Given the description of an element on the screen output the (x, y) to click on. 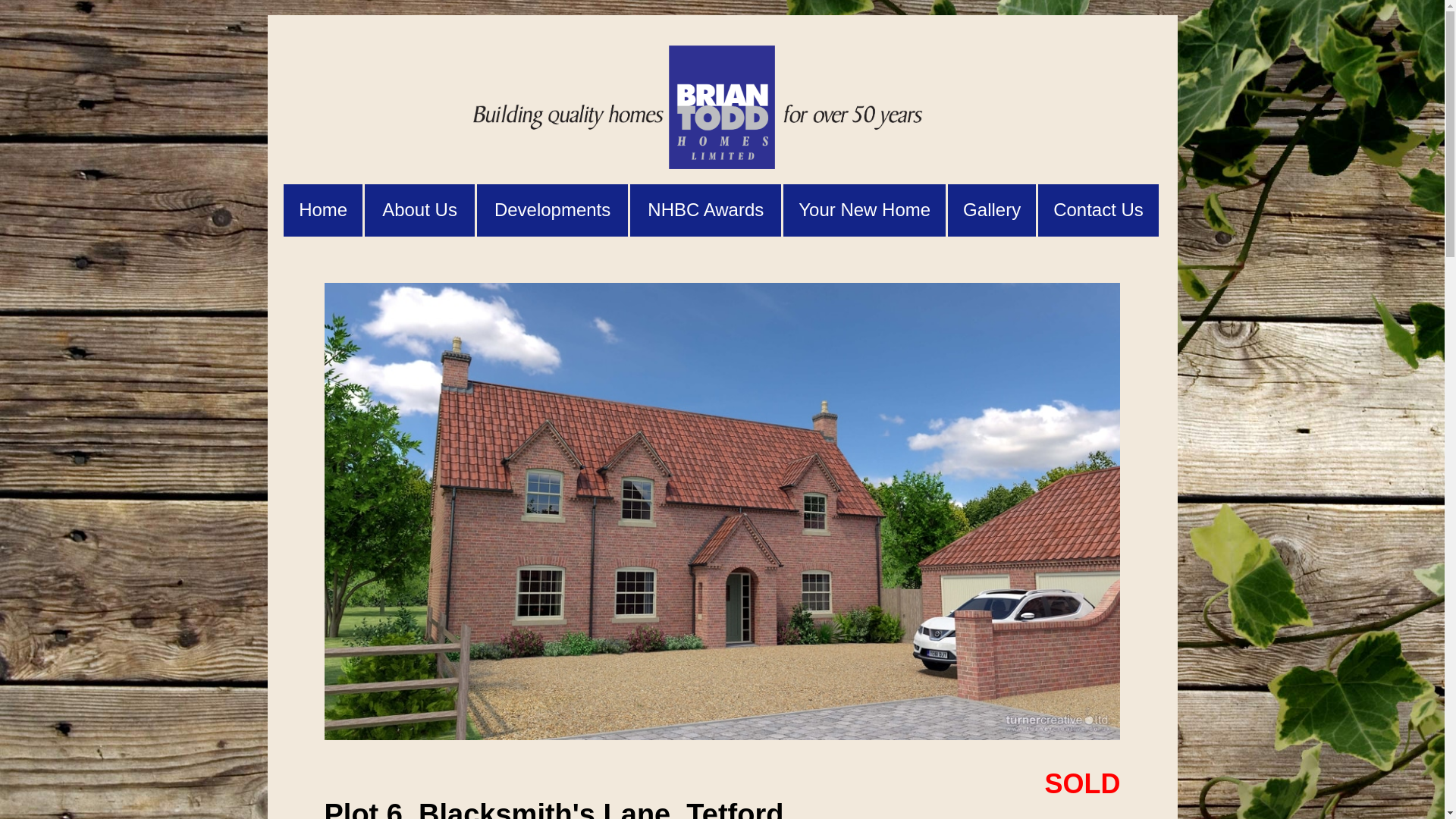
About Us (419, 209)
Gallery (991, 210)
Home (322, 210)
Your New Home (863, 210)
Contact Us (1098, 210)
